Given the description of an element on the screen output the (x, y) to click on. 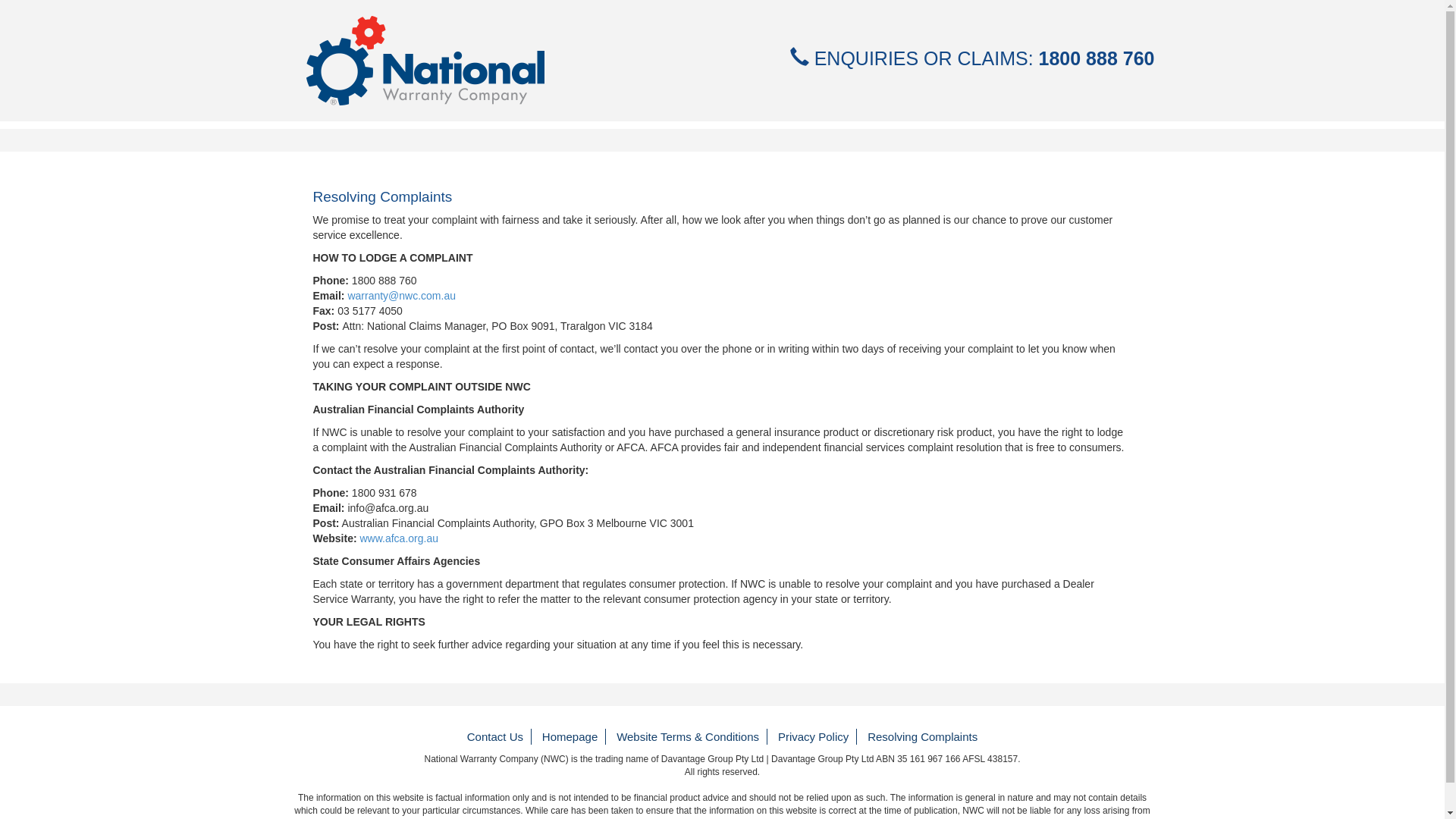
1800 888 760 Element type: text (1096, 58)
Homepage Element type: text (569, 736)
Privacy Policy Element type: text (813, 736)
1800 888 760 Element type: text (384, 280)
warranty@nwc.com.au Element type: text (401, 295)
www.afca.org.au Element type: text (398, 538)
1800 931 678 Element type: text (384, 492)
Contact Us Element type: text (495, 736)
Resolving Complaints Element type: text (922, 736)
Website Terms & Conditions Element type: text (687, 736)
